Given the description of an element on the screen output the (x, y) to click on. 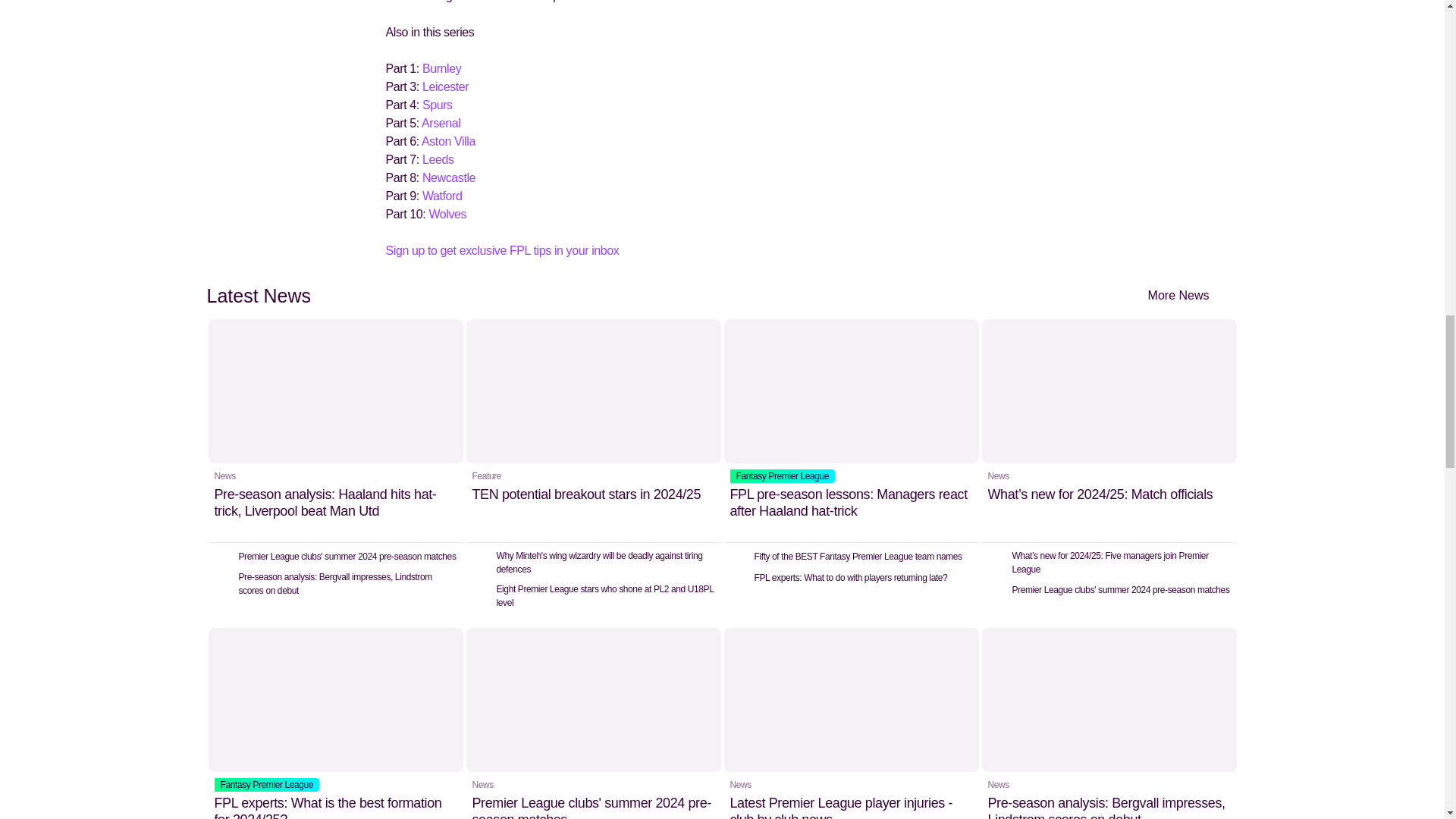
Latest Premier League player injuries - club by club news (850, 723)
Premier League clubs' summer 2024 pre-season matches (592, 723)
